Given the description of an element on the screen output the (x, y) to click on. 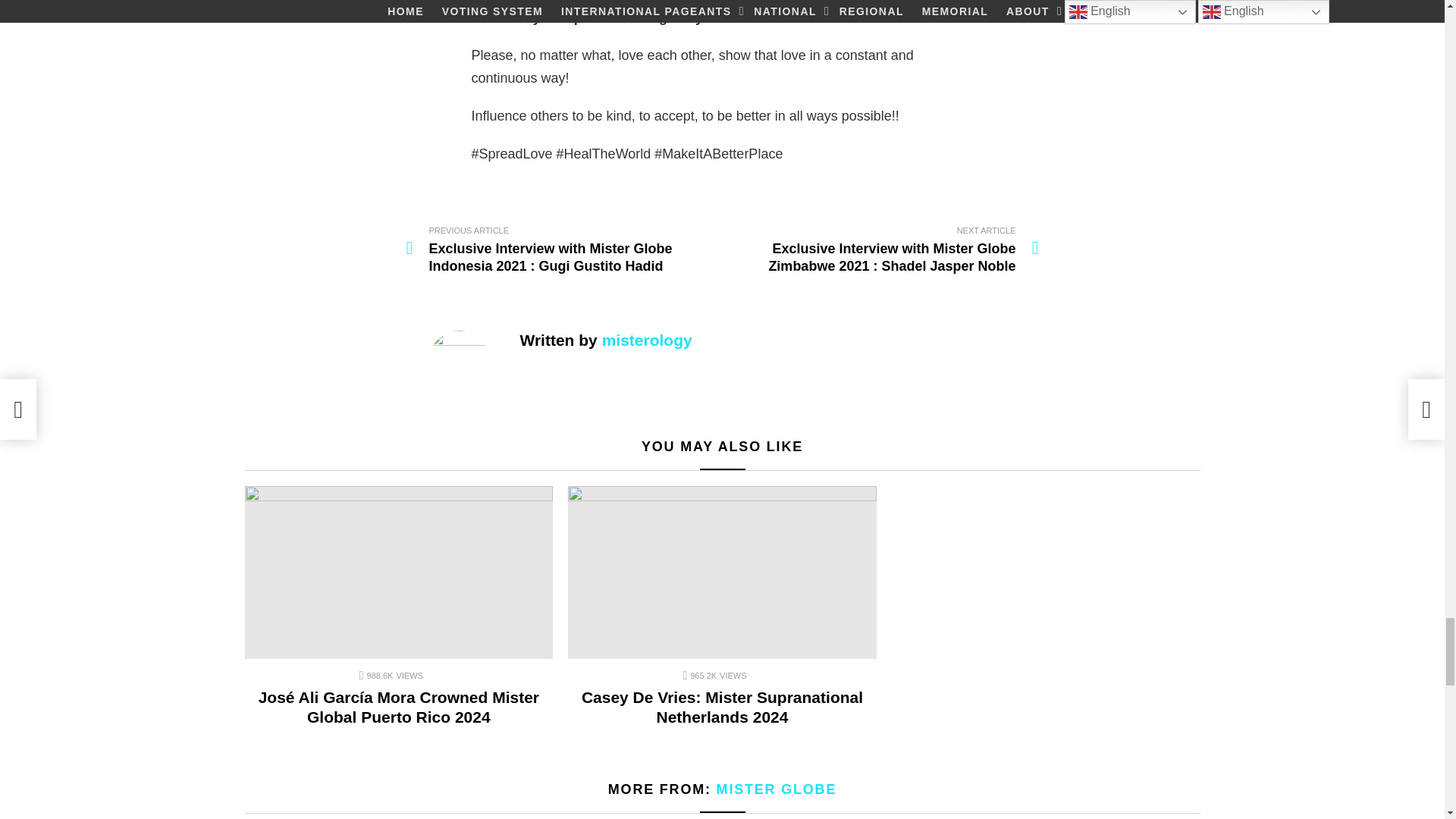
Casey De Vries: Mister Supranational Netherlands 2024 (721, 573)
